Given the description of an element on the screen output the (x, y) to click on. 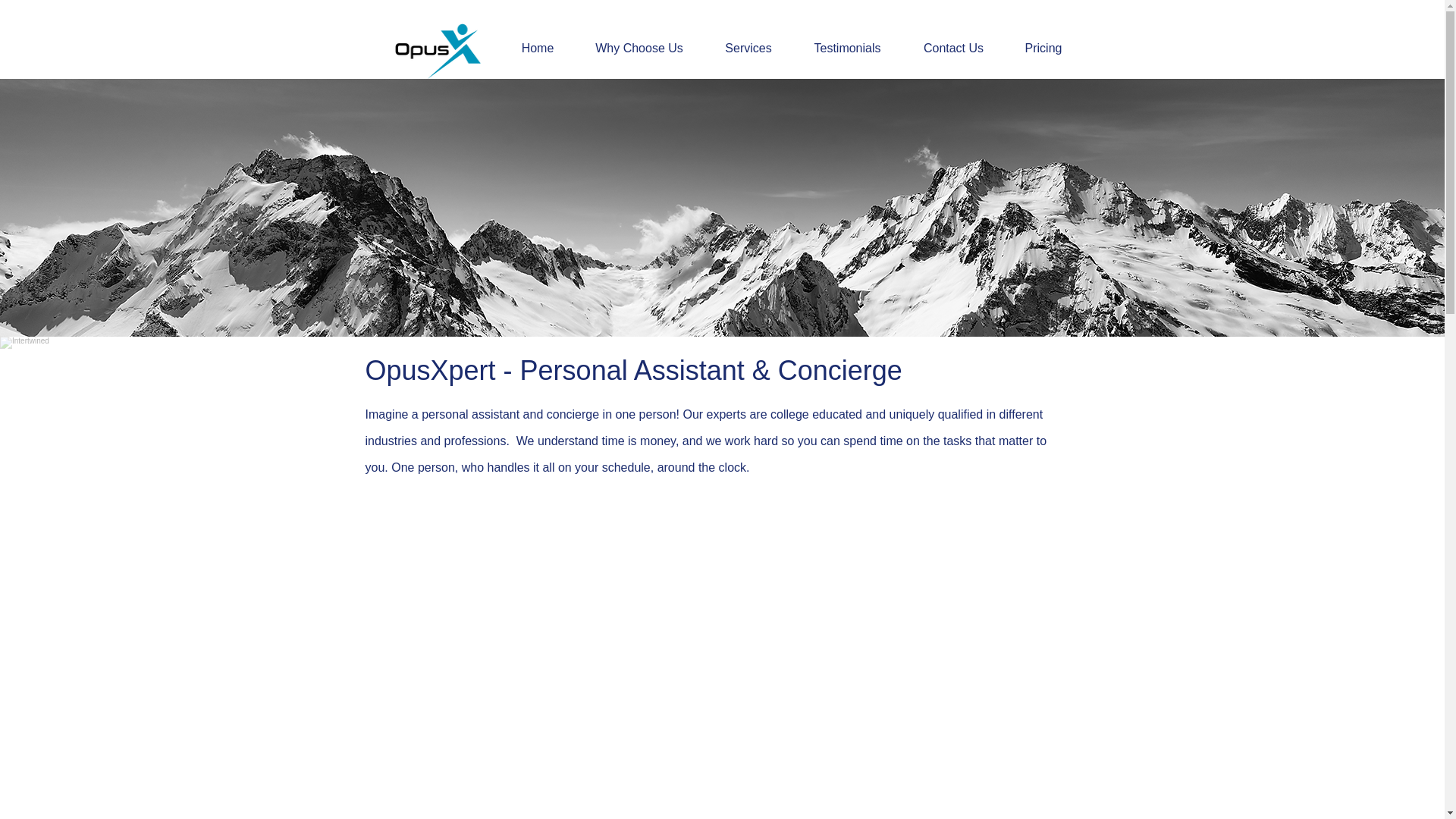
Services (748, 48)
Why Choose Us (638, 48)
Contact Us (953, 48)
Testimonials (847, 48)
Pricing (1042, 48)
Home (537, 48)
